Given the description of an element on the screen output the (x, y) to click on. 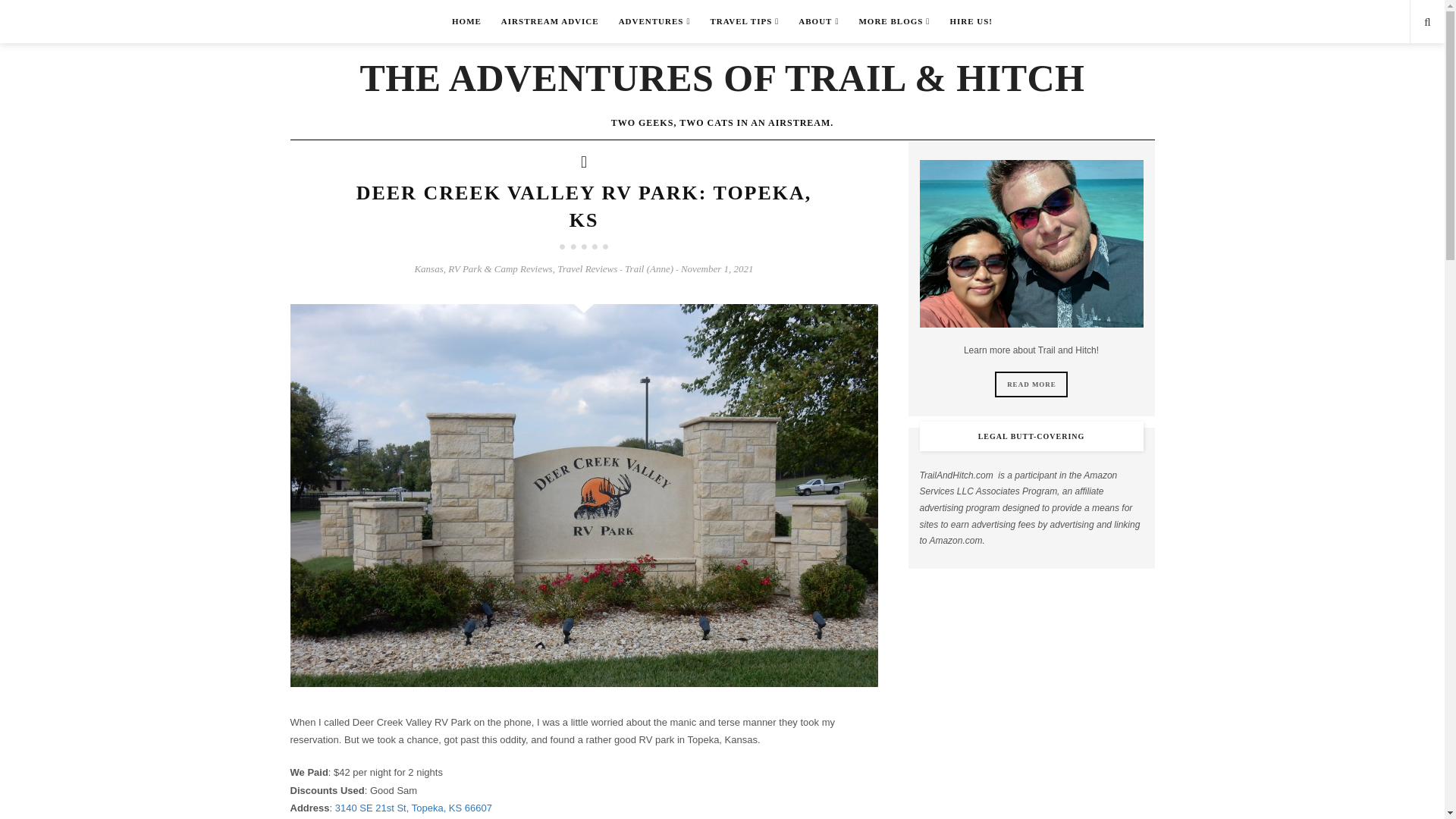
AIRSTREAM ADVICE (550, 21)
ADVENTURES (654, 21)
HOME (467, 21)
